Given the description of an element on the screen output the (x, y) to click on. 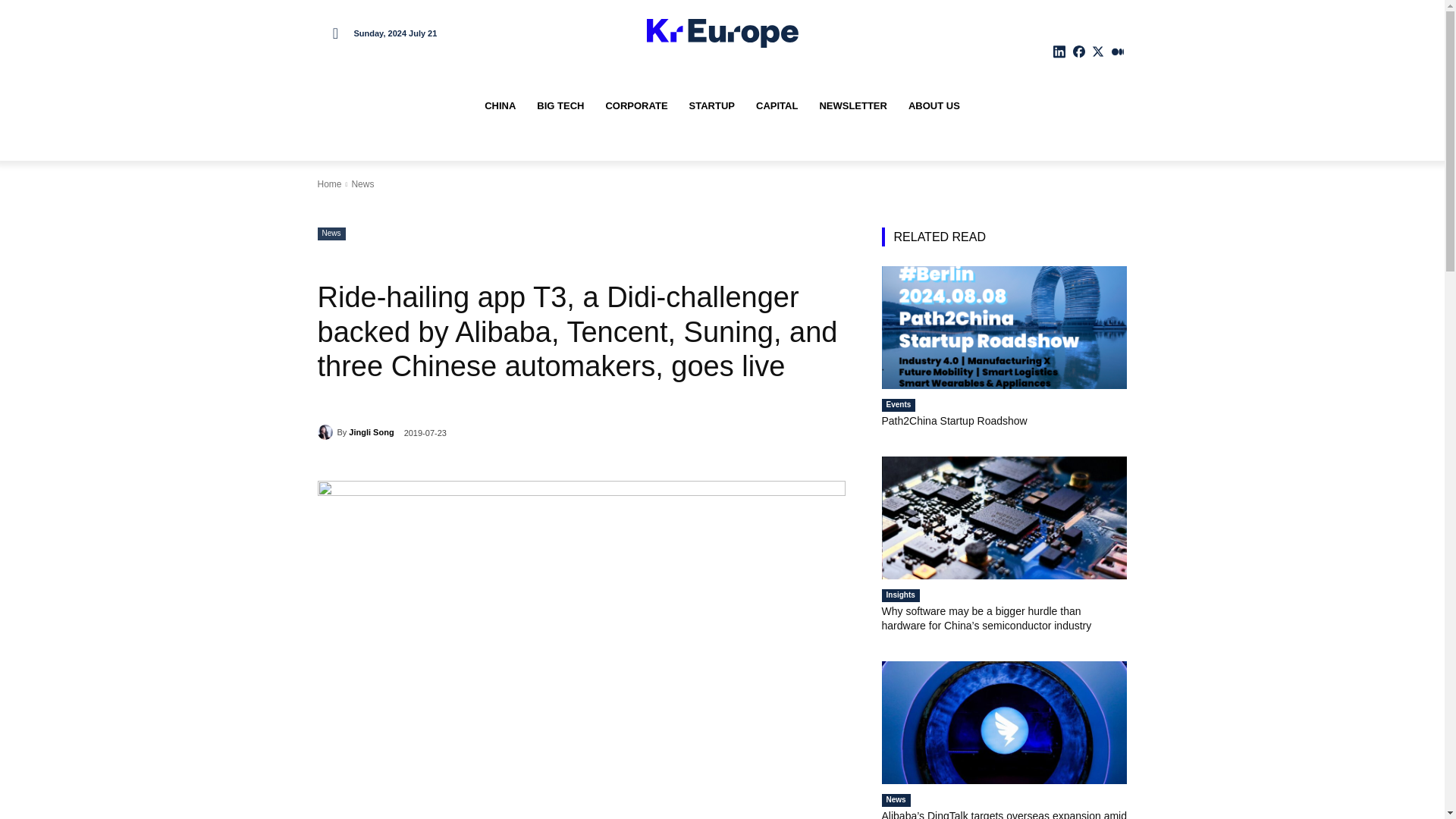
ABOUT US (934, 105)
Jingli Song (326, 432)
CHINA (499, 105)
BIG TECH (559, 105)
News (331, 233)
NEWSLETTER (853, 105)
View all posts in News (362, 184)
STARTUP (711, 105)
News (362, 184)
CORPORATE (636, 105)
Jingli Song (371, 431)
Home (328, 184)
CAPITAL (776, 105)
